Given the description of an element on the screen output the (x, y) to click on. 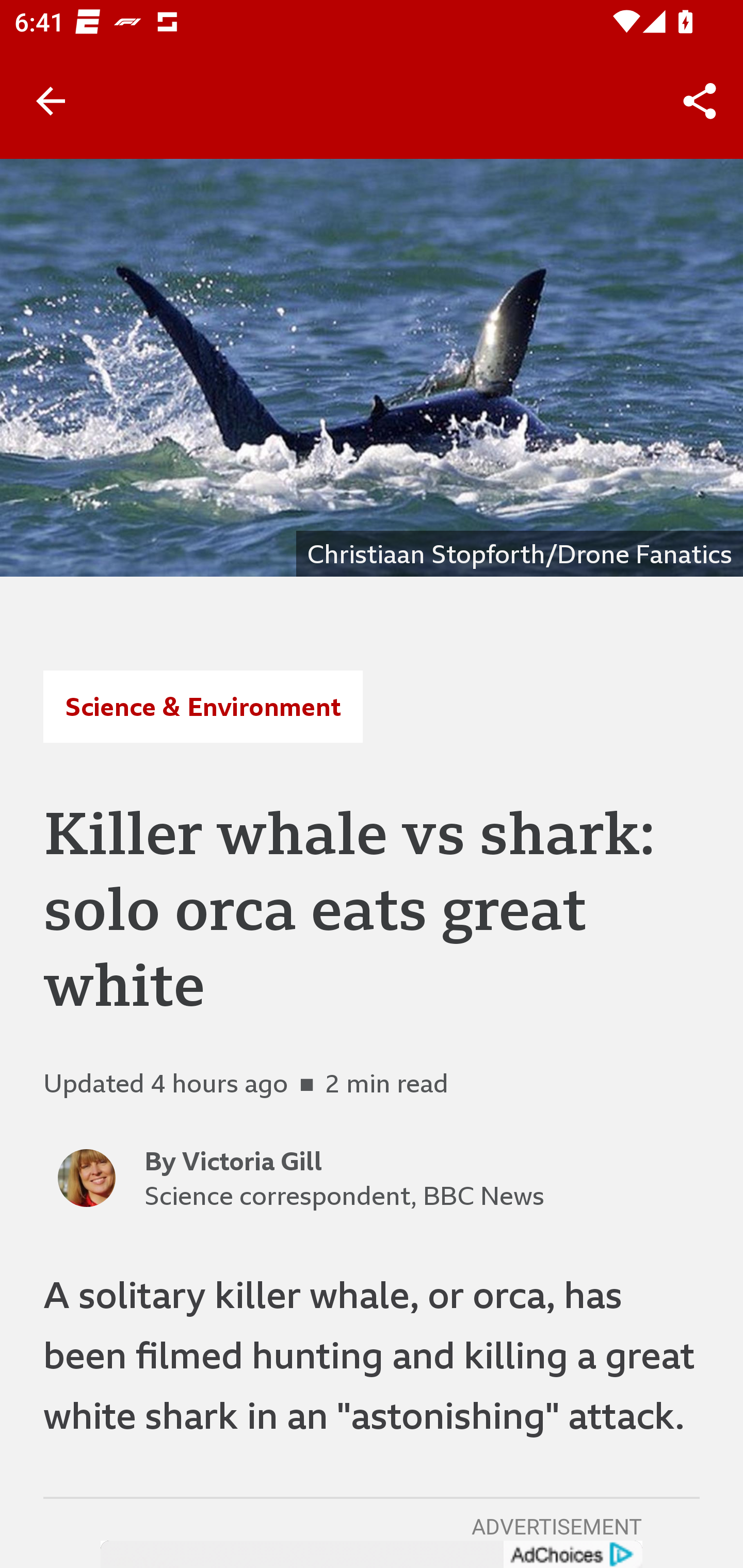
Back (50, 101)
Share (699, 101)
Science & Environment (202, 706)
Video Player get?name=admarker-full-tl   (371, 1554)
Video Player get?name=admarker-full-tl   (371, 1554)
Video Player get?name=admarker-full-tl   (371, 1554)
get?name=admarker-full-tl (571, 1554)
